Given the description of an element on the screen output the (x, y) to click on. 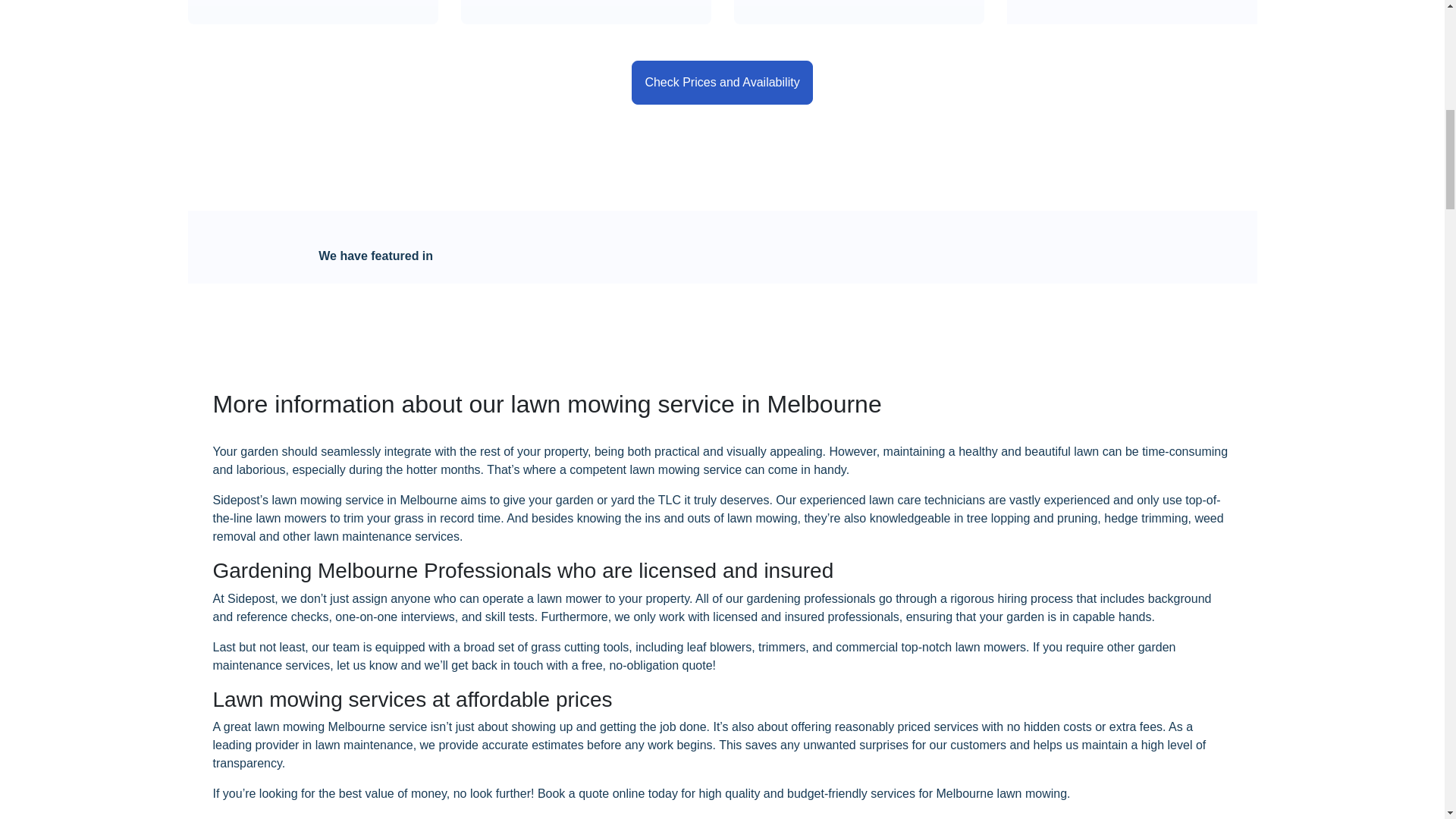
Check Prices and Availability (721, 82)
